Given the description of an element on the screen output the (x, y) to click on. 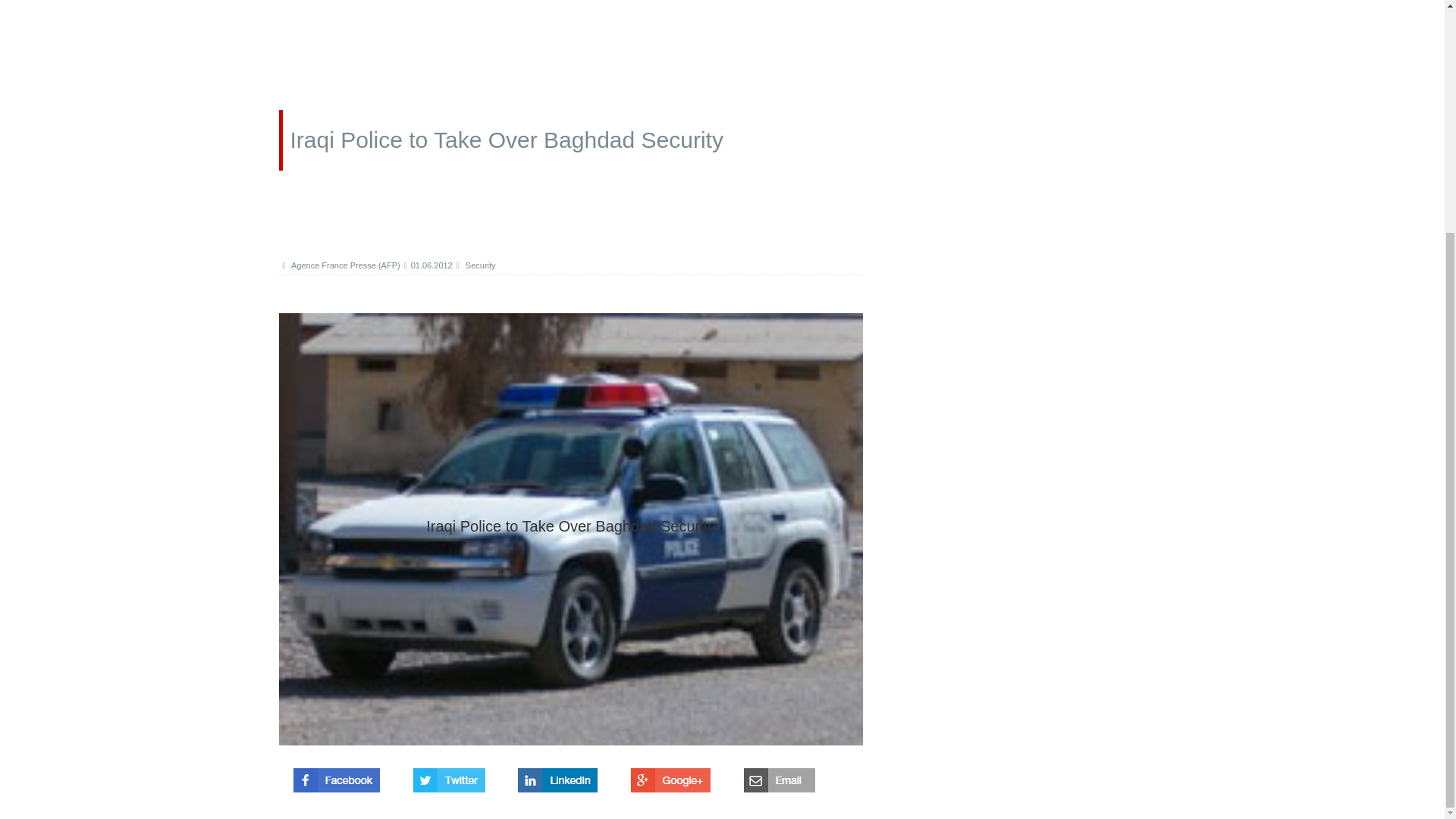
Share on LinkedIn (557, 775)
Tweet this (448, 775)
Security (476, 265)
Visit defaiya on Facebook (337, 775)
